Given the description of an element on the screen output the (x, y) to click on. 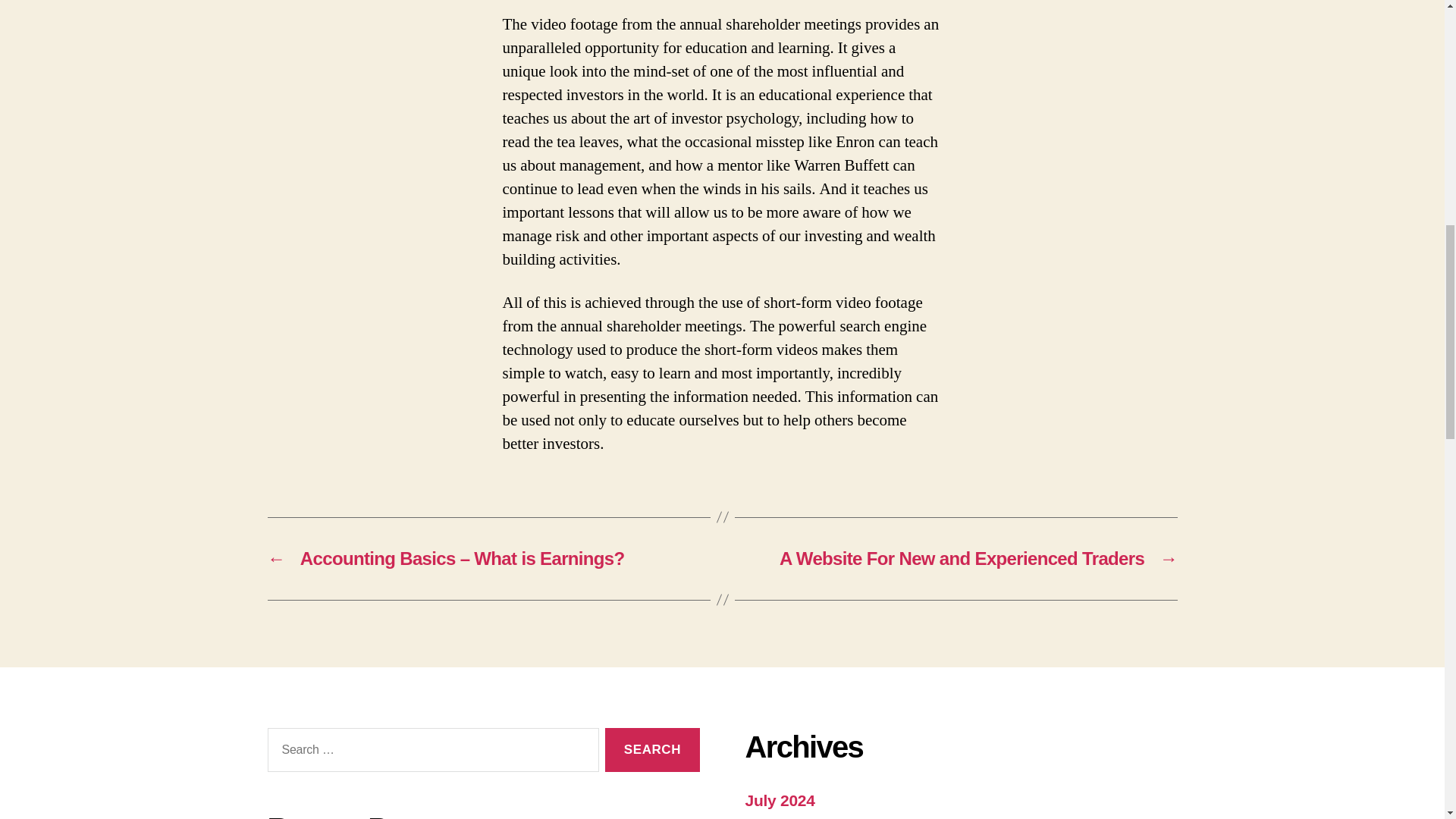
Search (651, 750)
Search (651, 750)
Search (651, 750)
July 2024 (778, 800)
June 2024 (781, 818)
